Given the description of an element on the screen output the (x, y) to click on. 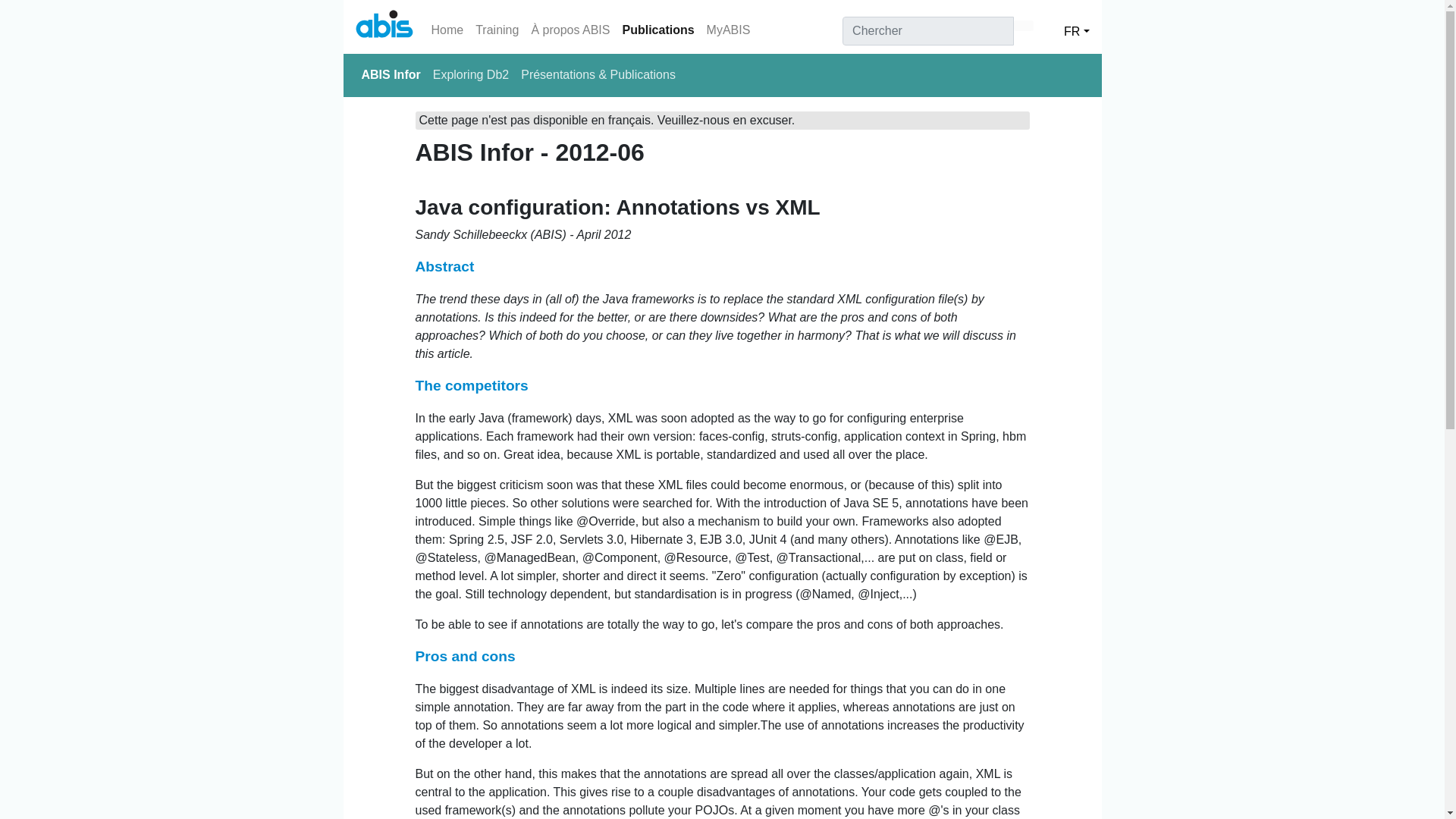
Training (496, 30)
MyABIS (728, 30)
Exploring Db2 (470, 74)
Home (446, 30)
